Given the description of an element on the screen output the (x, y) to click on. 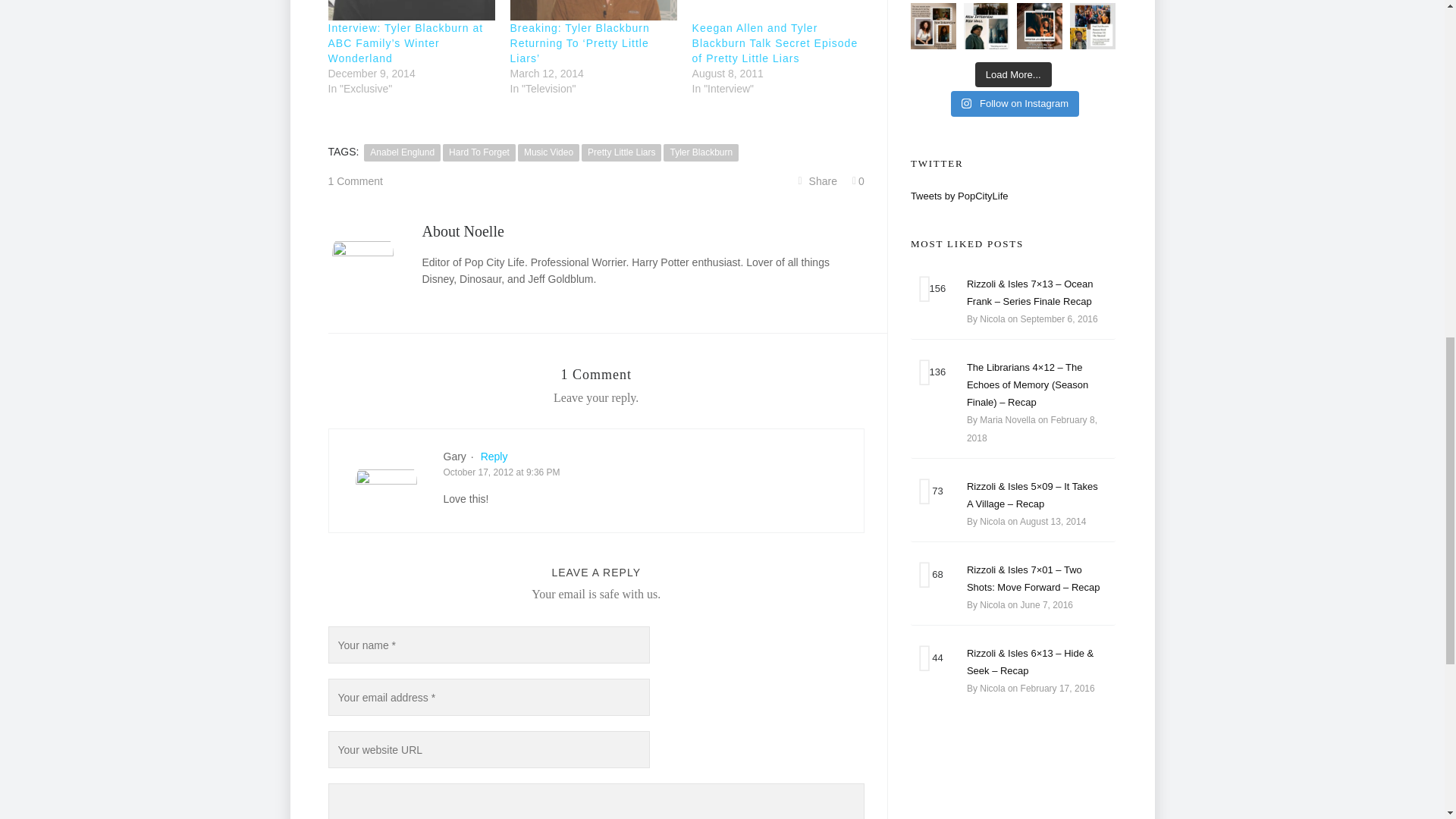
October 17, 2012 at 9:36 PM (500, 471)
Music Video (548, 152)
Hard To Forget (478, 152)
Pretty Little Liars (620, 152)
Anabel Englund (402, 152)
Tyler Blackburn (700, 152)
1 Comment (354, 180)
